Given the description of an element on the screen output the (x, y) to click on. 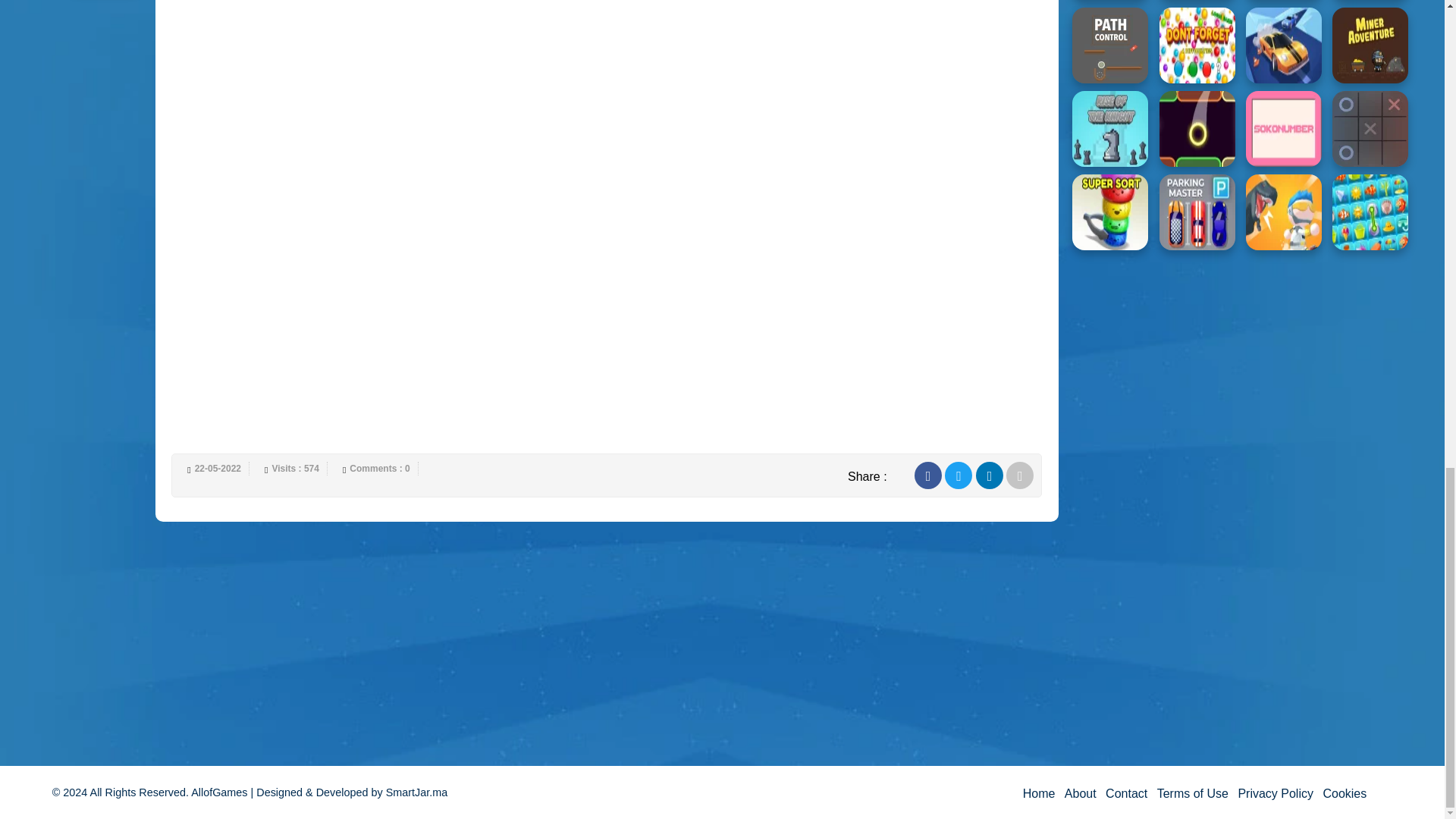
Tumblr (1020, 474)
linkedin (989, 474)
Facebook (928, 474)
Comments : 0 (380, 468)
Visits : 574 (295, 468)
22-05-2022 (218, 468)
Twitter (958, 474)
